Given the description of an element on the screen output the (x, y) to click on. 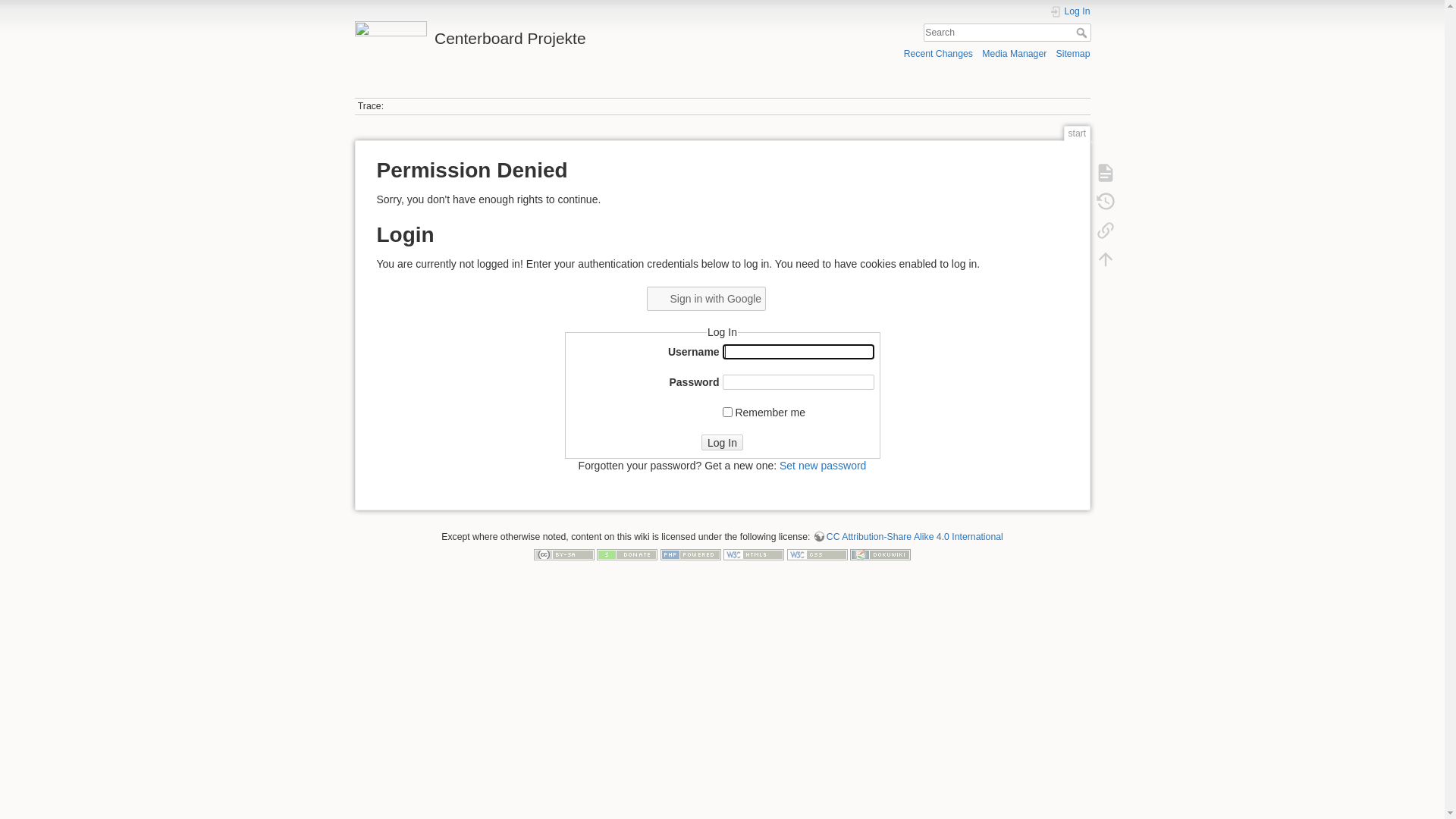
Set new password Element type: text (822, 465)
CC Attribution-Share Alike 4.0 International Element type: text (907, 536)
[F] Element type: hover (1007, 32)
Show page [v] Element type: hover (1104, 172)
Log In Element type: text (1069, 11)
Log In Element type: text (722, 442)
Centerboard Projekte Element type: text (534, 34)
Back to top [t] Element type: hover (1104, 258)
Powered by PHP Element type: hover (690, 554)
Search Element type: text (1082, 32)
Backlinks Element type: hover (1104, 230)
Old revisions [o] Element type: hover (1104, 201)
Recent Changes Element type: text (937, 53)
Sign in with Google Element type: text (721, 306)
Valid CSS Element type: hover (817, 554)
Valid HTML5 Element type: hover (753, 554)
Sitemap Element type: text (1073, 53)
Media Manager Element type: text (1014, 53)
Donate Element type: hover (626, 554)
Driven by DokuWiki Element type: hover (880, 554)
